Given the description of an element on the screen output the (x, y) to click on. 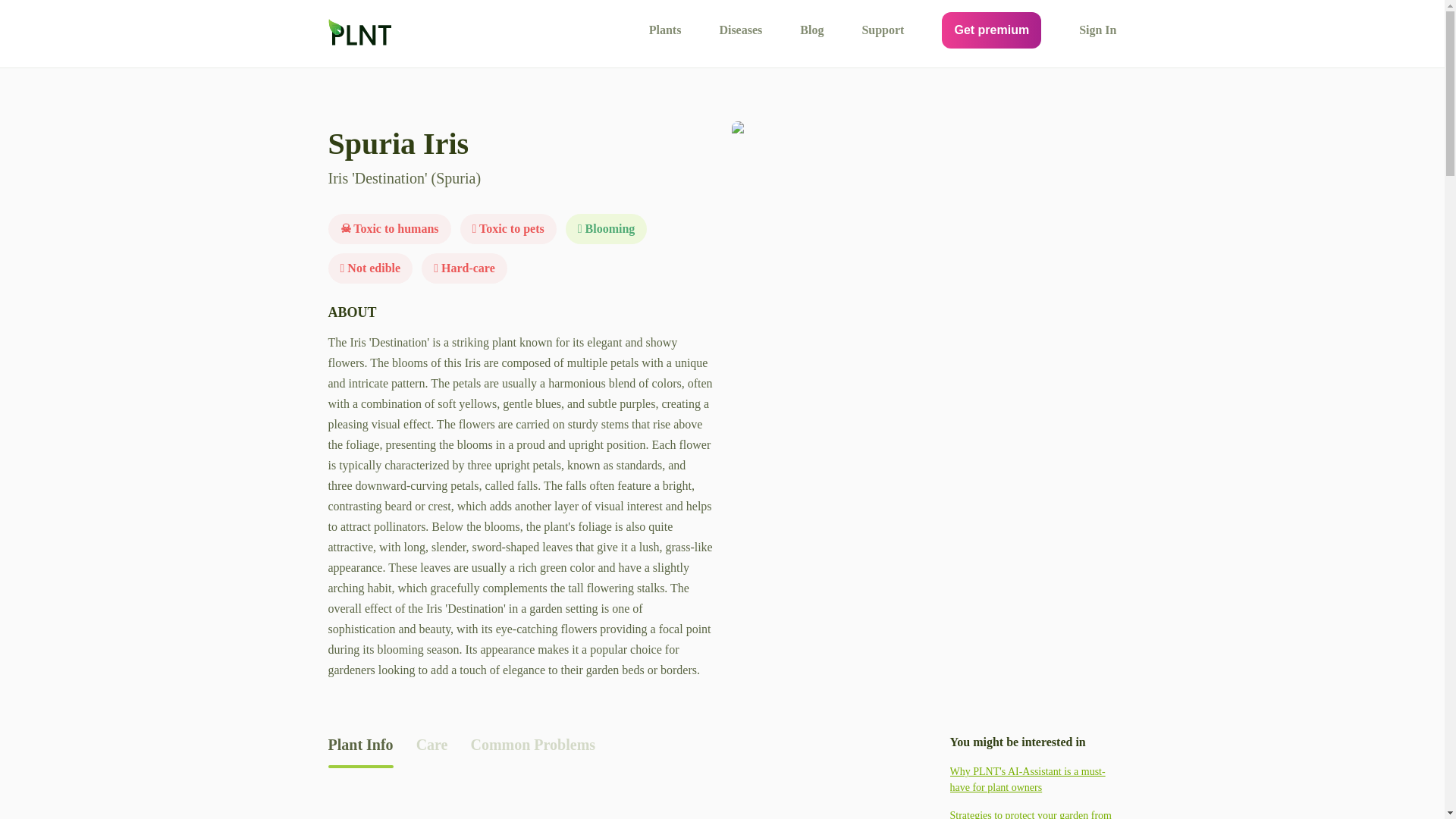
Get premium (991, 30)
Strategies to protect your garden from birds (1032, 813)
Support (882, 30)
Plants (665, 30)
Blog (811, 30)
Why PLNT's AI-Assistant is a must-have for plant owners (1032, 779)
Diseases (740, 30)
Sign In (1097, 30)
